Given the description of an element on the screen output the (x, y) to click on. 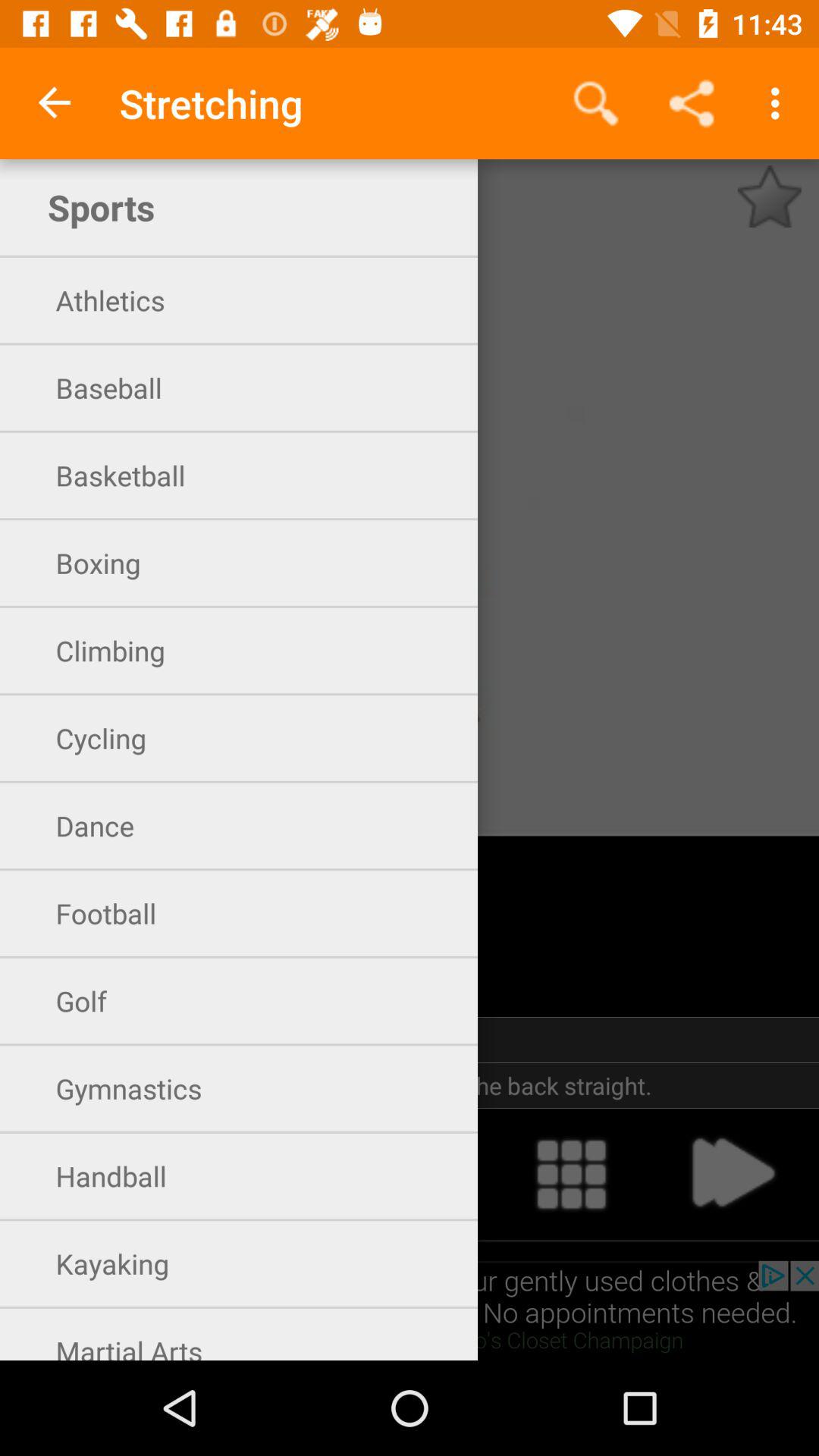
select app next to the stretching app (595, 103)
